Given the description of an element on the screen output the (x, y) to click on. 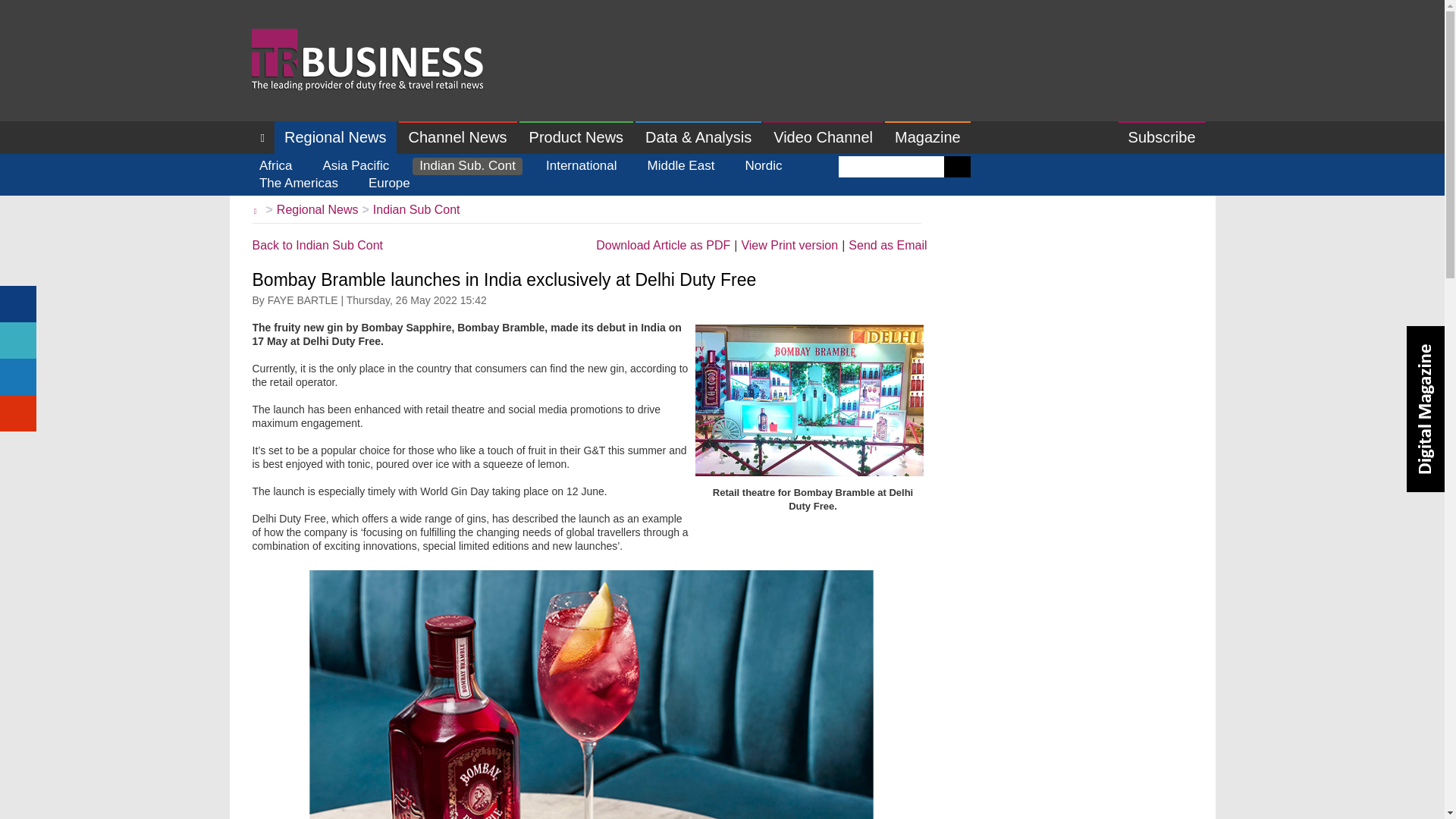
Channel News (457, 137)
Pdf (662, 245)
Search (957, 166)
The Americas (298, 183)
Nordic (763, 166)
Regional News (335, 137)
International (581, 166)
Asia Pacific (355, 166)
Retail theatre for Bombay Bramble at Delhi Duty Free (808, 399)
